Given the description of an element on the screen output the (x, y) to click on. 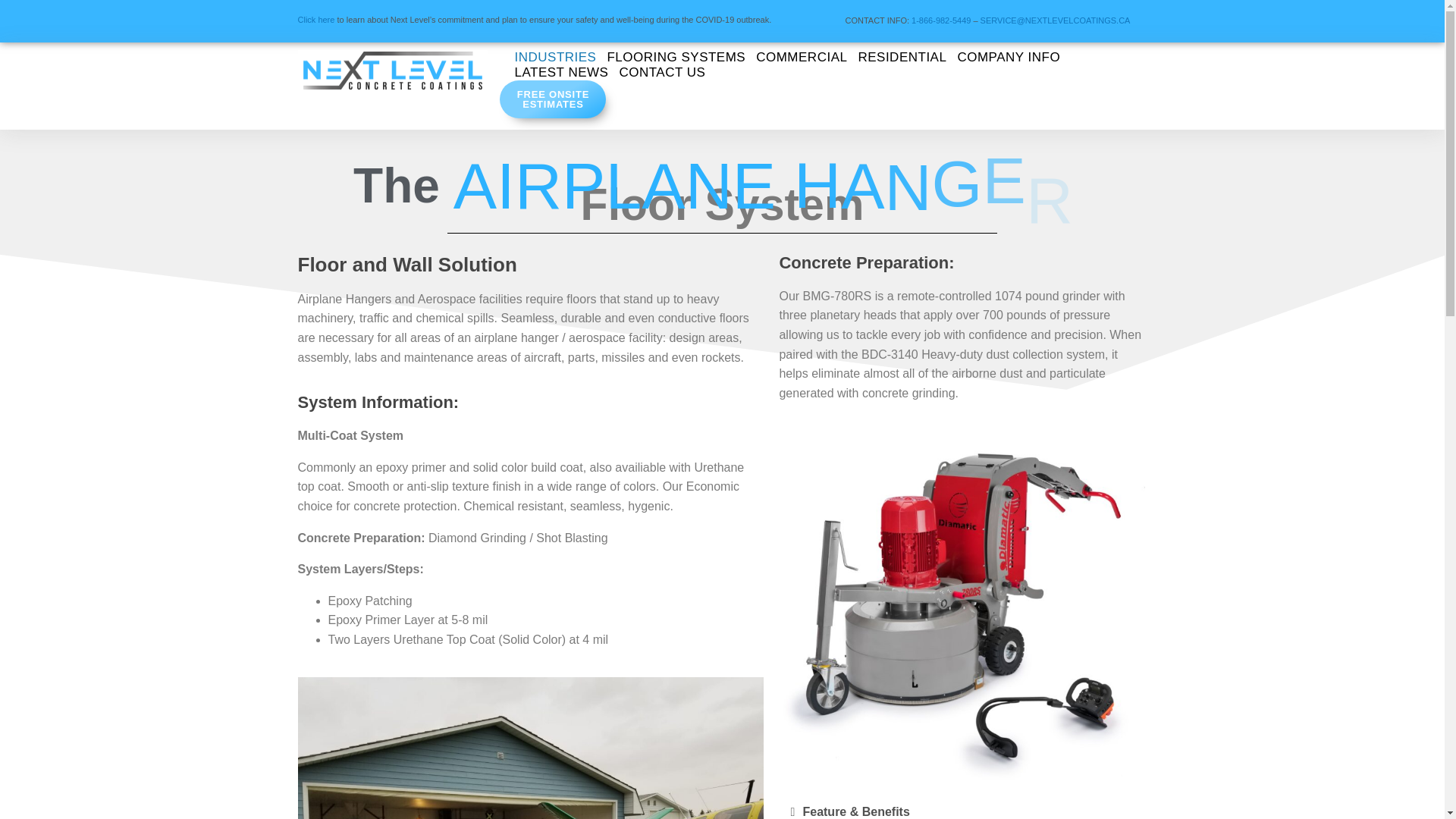
CONTACT US (661, 72)
INDUSTRIES (554, 57)
RESIDENTIAL (901, 57)
COMMERCIAL (801, 57)
LATEST NEWS (560, 72)
Click here (315, 19)
FLOORING SYSTEMS (676, 57)
COMPANY INFO (1007, 57)
1-866-982-5449 (941, 20)
